Given the description of an element on the screen output the (x, y) to click on. 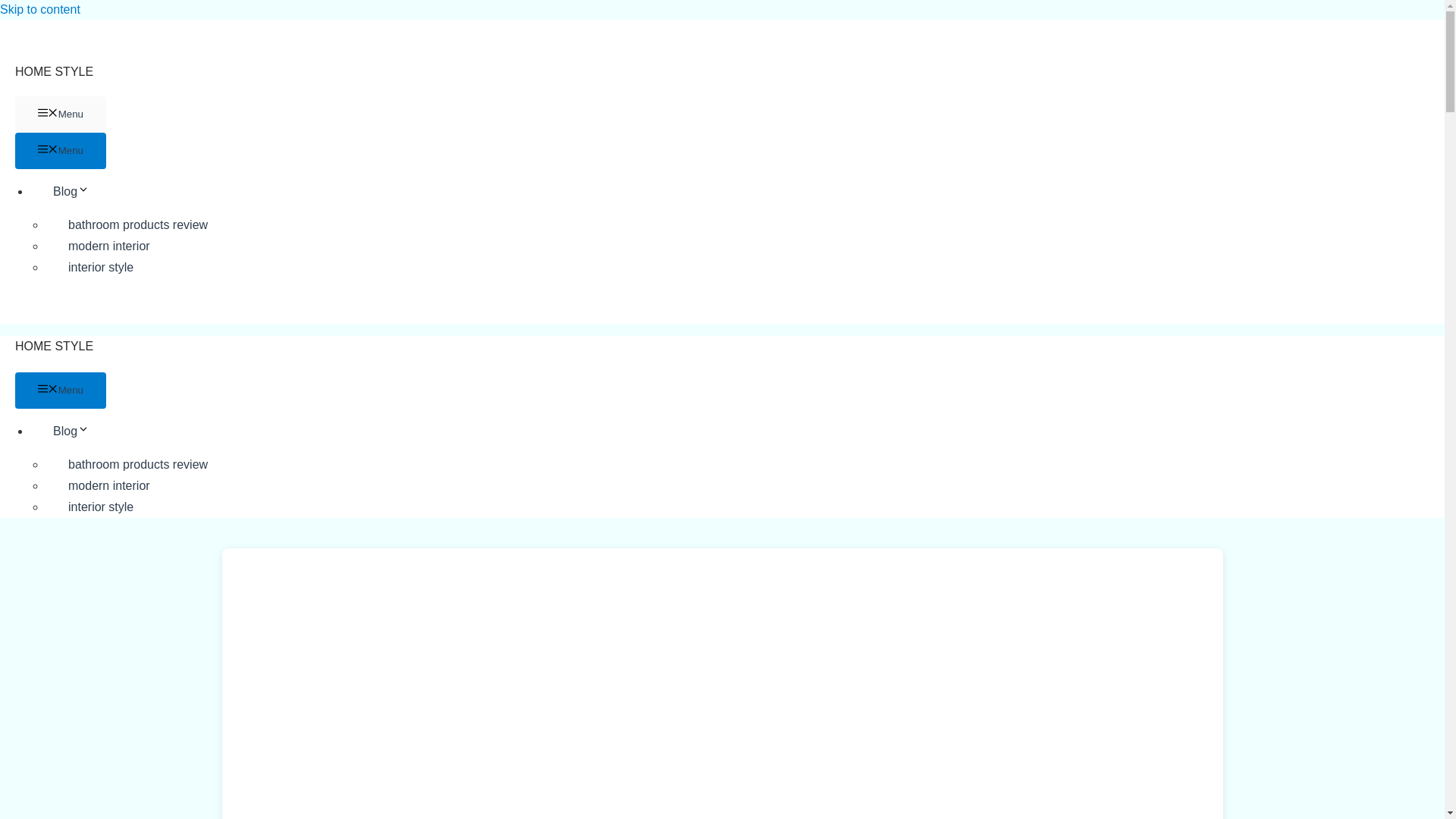
modern interior (109, 485)
HOME STYLE (53, 71)
Menu (60, 390)
HOME STYLE (53, 345)
interior style (100, 267)
Skip to content (40, 9)
interior style (100, 506)
Blog (82, 191)
Skip to content (40, 9)
bathroom products review (137, 464)
Menu (60, 114)
modern interior (109, 245)
Menu (60, 150)
bathroom products review (137, 224)
Blog (82, 431)
